Given the description of an element on the screen output the (x, y) to click on. 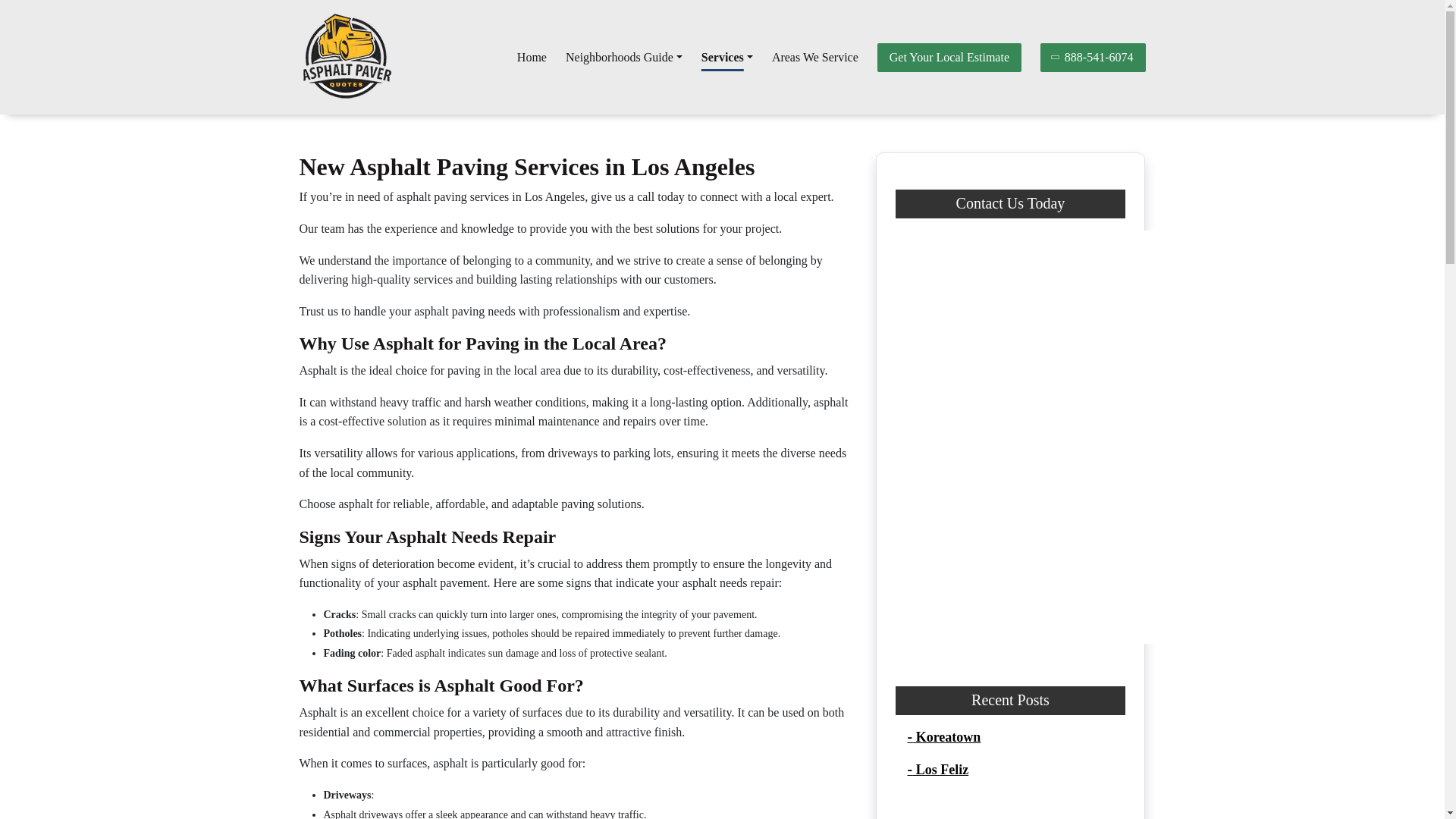
- Los Feliz (937, 769)
Neighborhoods Guide (624, 57)
888-541-6074 (1093, 56)
Neighborhoods Guide (624, 57)
Areas We Service (815, 57)
Services (726, 57)
- Koreatown (943, 736)
Services (726, 57)
Home (531, 57)
Get Your Local Estimate (949, 56)
